Given the description of an element on the screen output the (x, y) to click on. 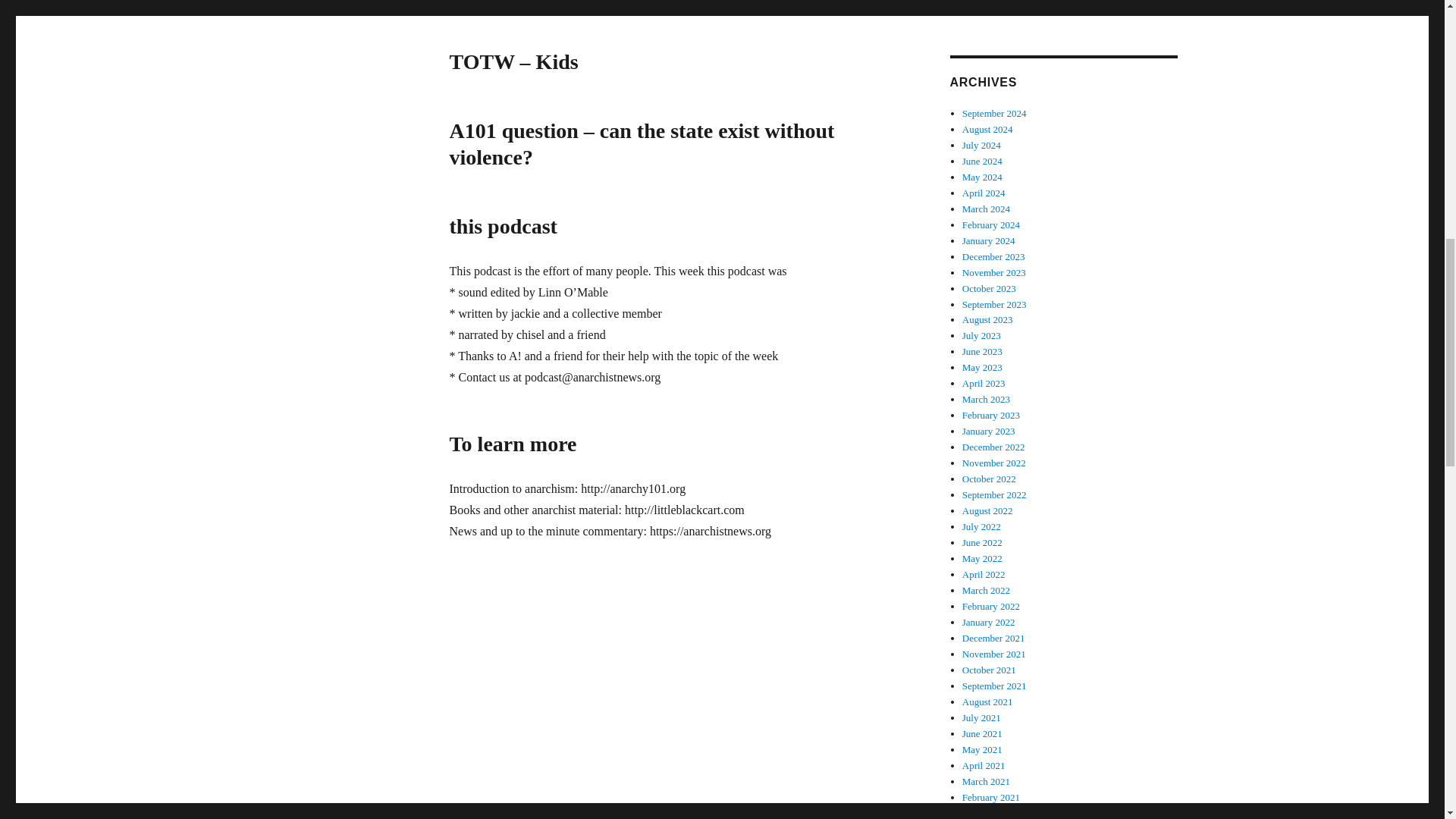
November 2023 (994, 272)
February 2024 (991, 224)
May 2024 (982, 176)
July 2024 (981, 144)
September 2024 (994, 112)
April 2024 (984, 193)
June 2024 (982, 161)
March 2024 (986, 208)
August 2024 (987, 129)
January 2024 (988, 240)
